Given the description of an element on the screen output the (x, y) to click on. 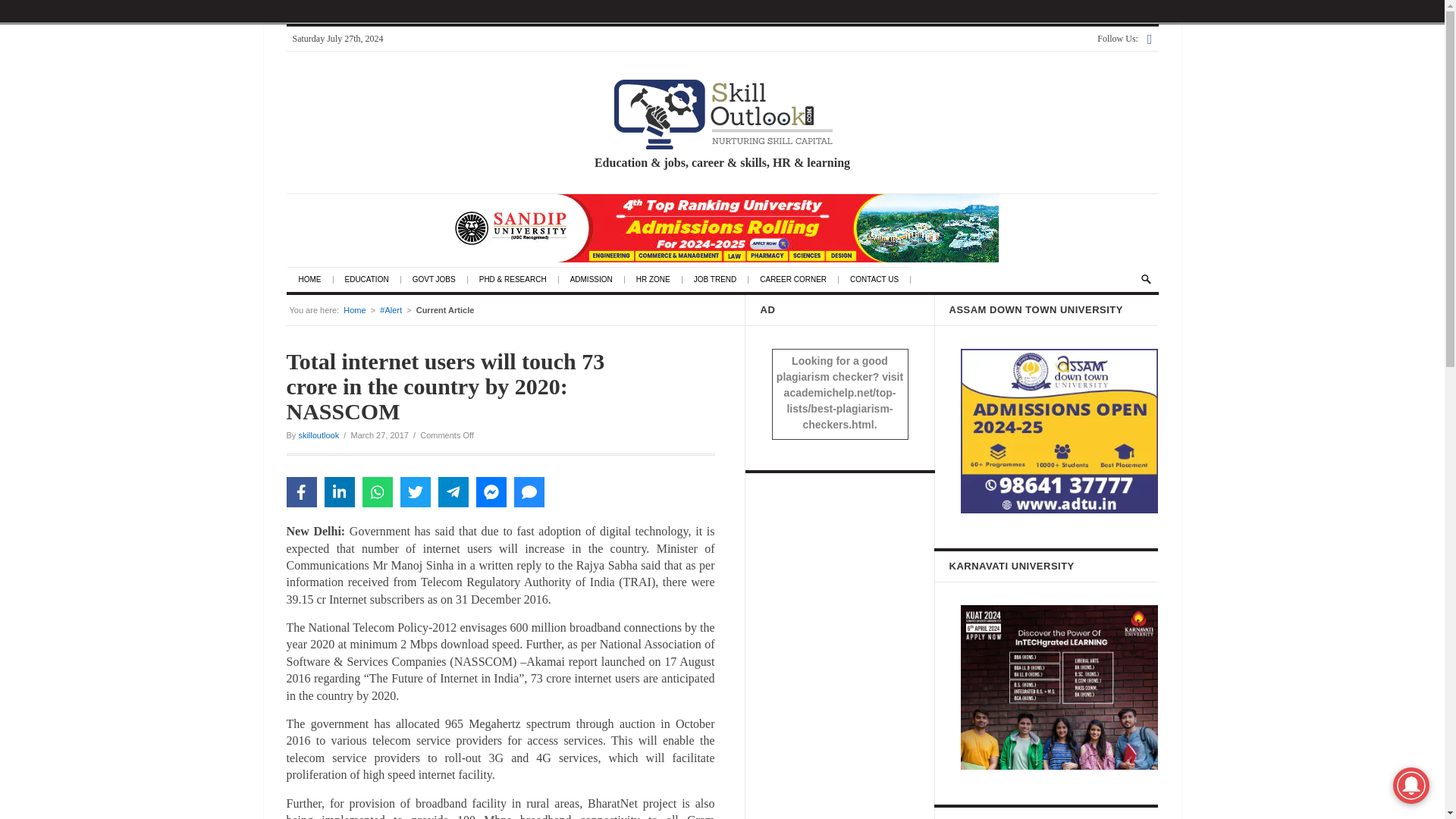
HOME (315, 279)
Home (354, 309)
JOB TREND (721, 279)
Like Us on Facebook (1150, 38)
Posts by skilloutlook (318, 434)
CAREER CORNER (799, 279)
GOVT JOBS (439, 279)
EDUCATION (371, 279)
HR ZONE (659, 279)
skilloutlook (318, 434)
ADMISSION (597, 279)
CONTACT US (880, 279)
